Given the description of an element on the screen output the (x, y) to click on. 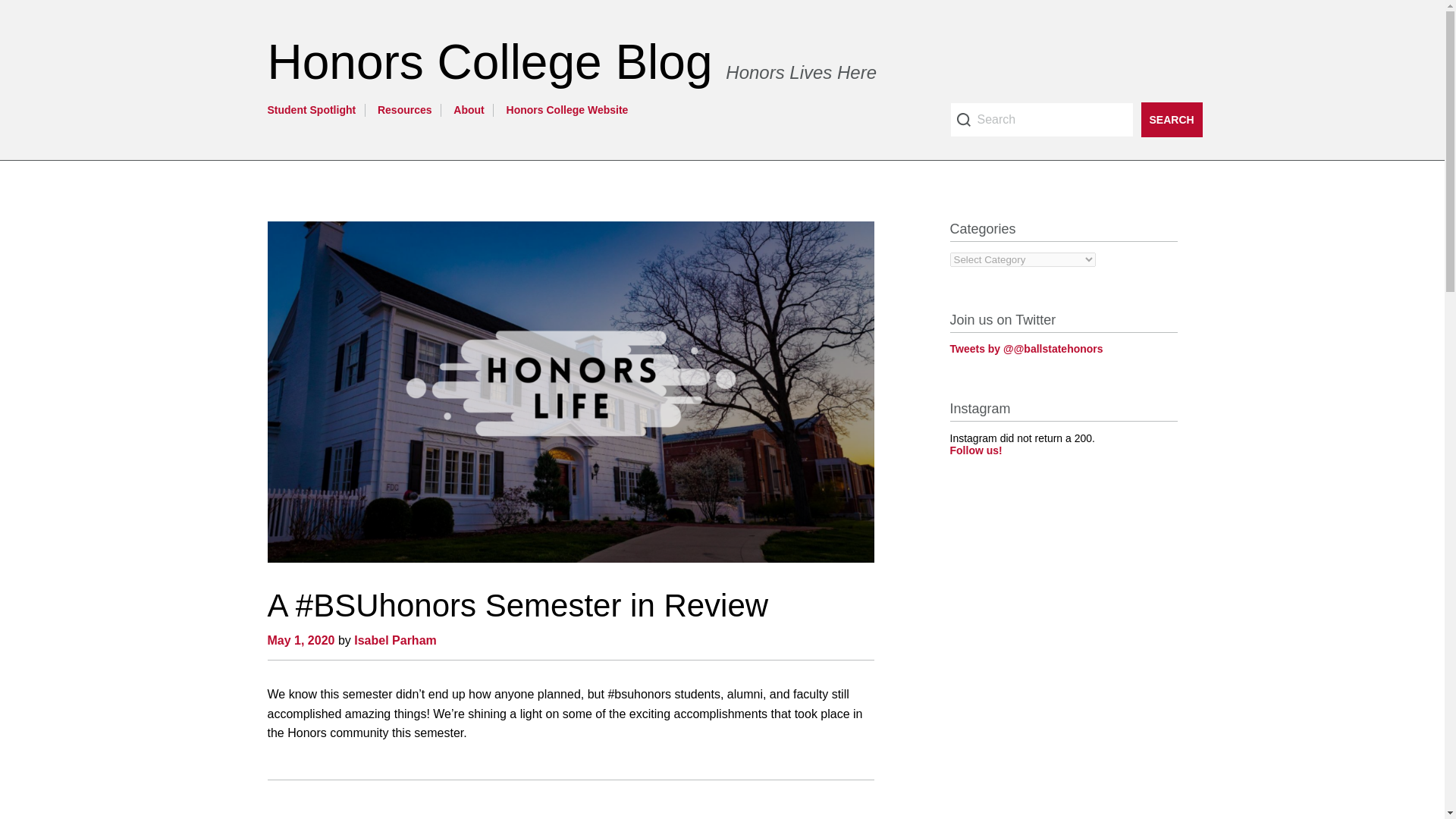
Posts by Isabel Parham (394, 640)
About (467, 110)
Student Spotlight (310, 110)
May 1, 2020 (300, 640)
Search (1171, 119)
Search (1171, 119)
Submit Search (1171, 119)
Isabel Parham (394, 640)
Search (1040, 119)
Resources (404, 110)
Honors College Blog (495, 61)
Honors College Website (567, 110)
